Given the description of an element on the screen output the (x, y) to click on. 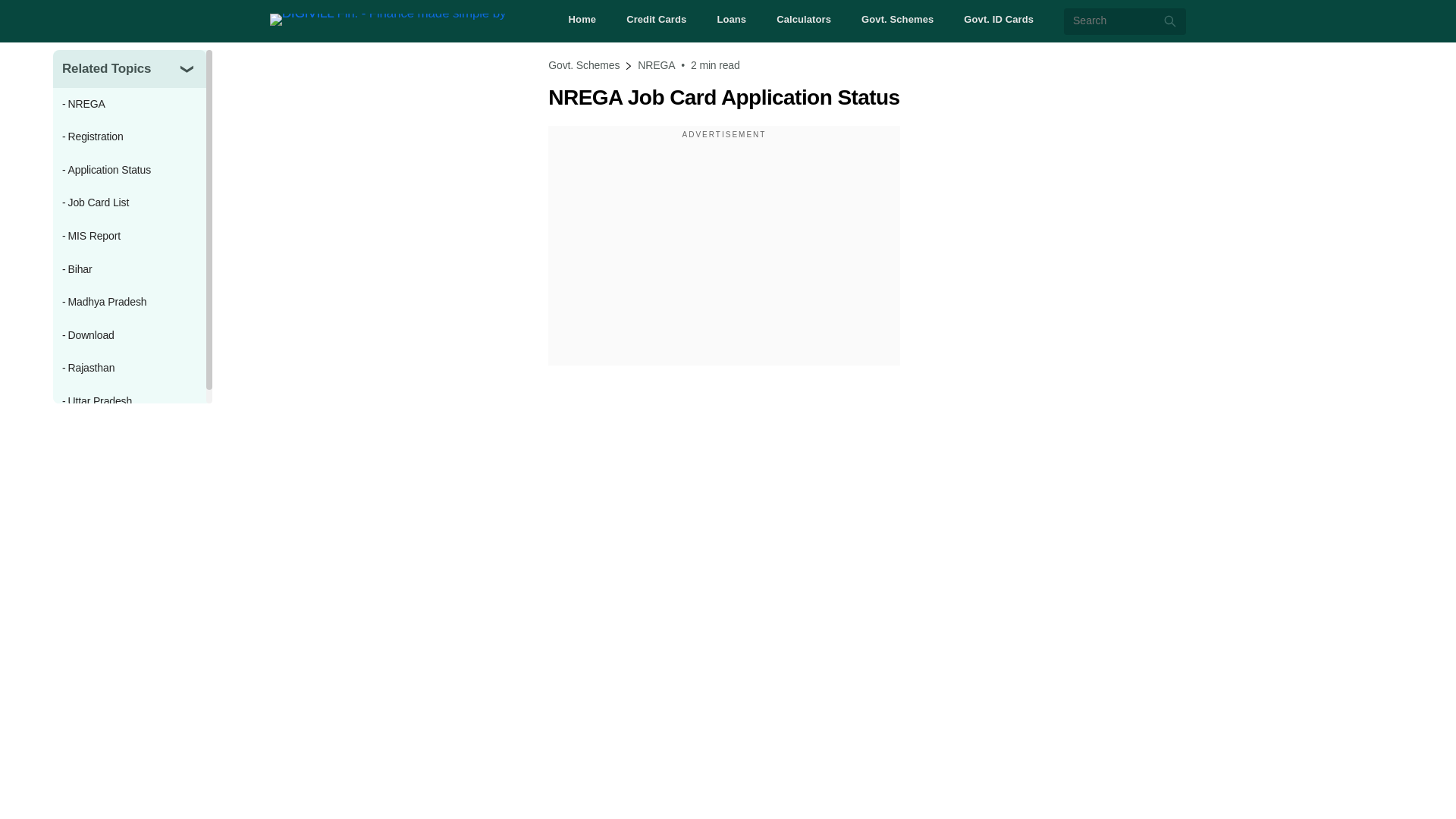
Madhya Pradesh (129, 302)
NREGA Madhya Pradesh (129, 302)
Govt. Schemes (897, 19)
Govt. ID Cards (998, 19)
Credit Cards (655, 19)
Loans (730, 19)
NREGA Bihar (129, 269)
Bihar (129, 269)
MIS Report (129, 236)
Download (129, 335)
